Given the description of an element on the screen output the (x, y) to click on. 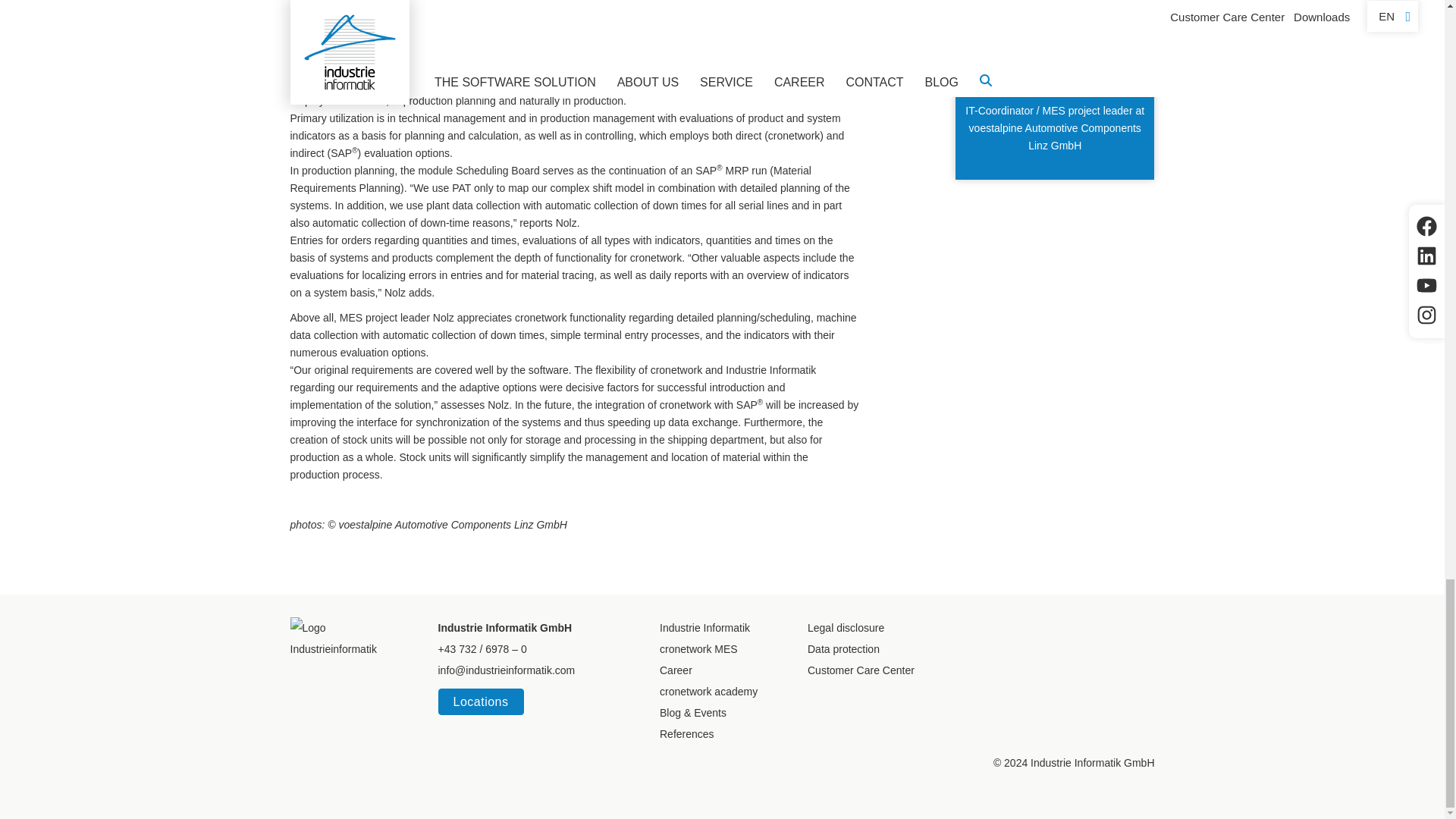
Call Industrie Informatik (482, 648)
Write an E-Mail to Industrie Informatik (506, 670)
Locations (481, 701)
